Given the description of an element on the screen output the (x, y) to click on. 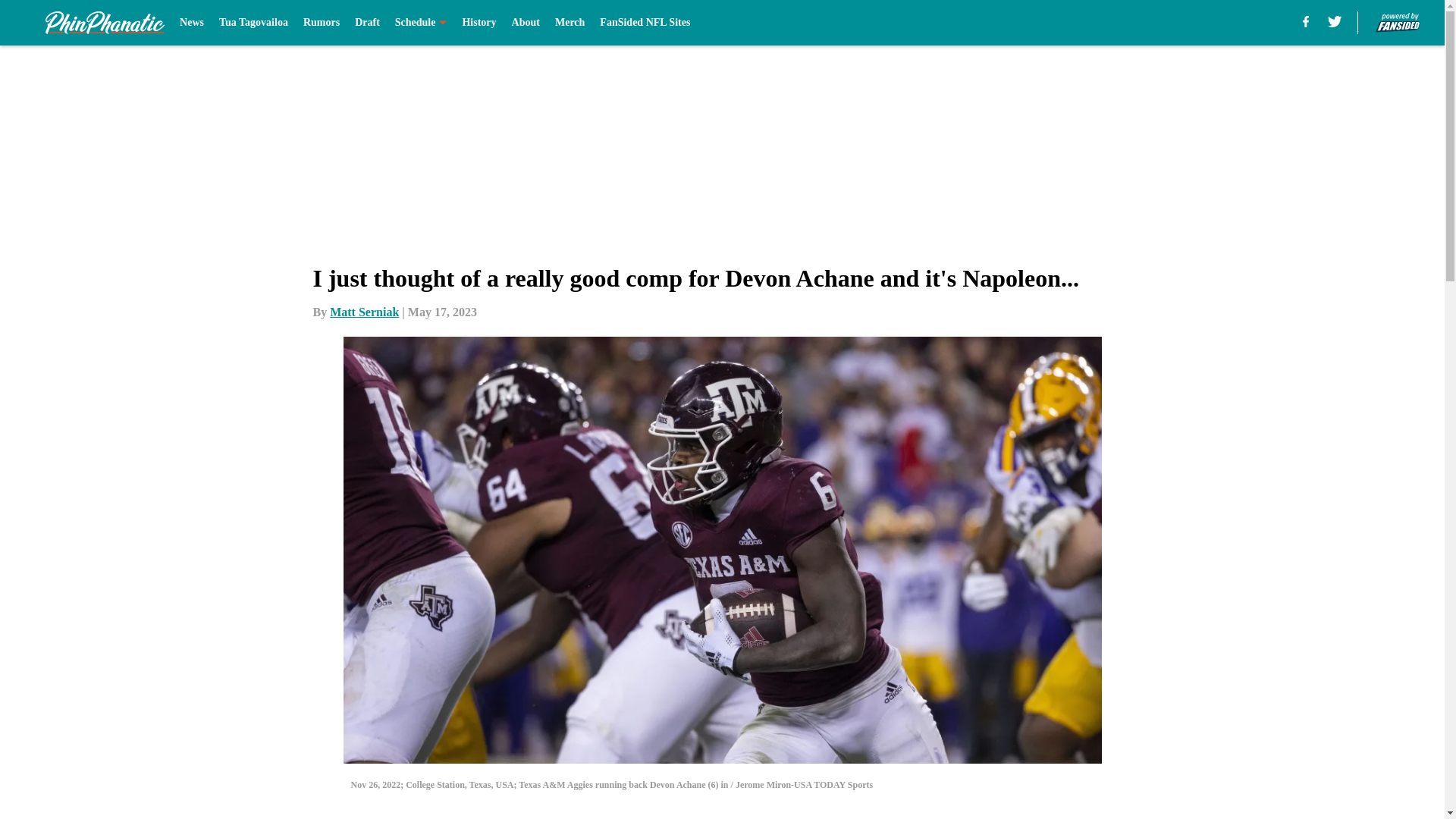
FanSided NFL Sites (644, 22)
Rumors (320, 22)
Matt Serniak (364, 311)
Draft (367, 22)
News (191, 22)
Merch (569, 22)
History (478, 22)
About (526, 22)
Tua Tagovailoa (253, 22)
